Given the description of an element on the screen output the (x, y) to click on. 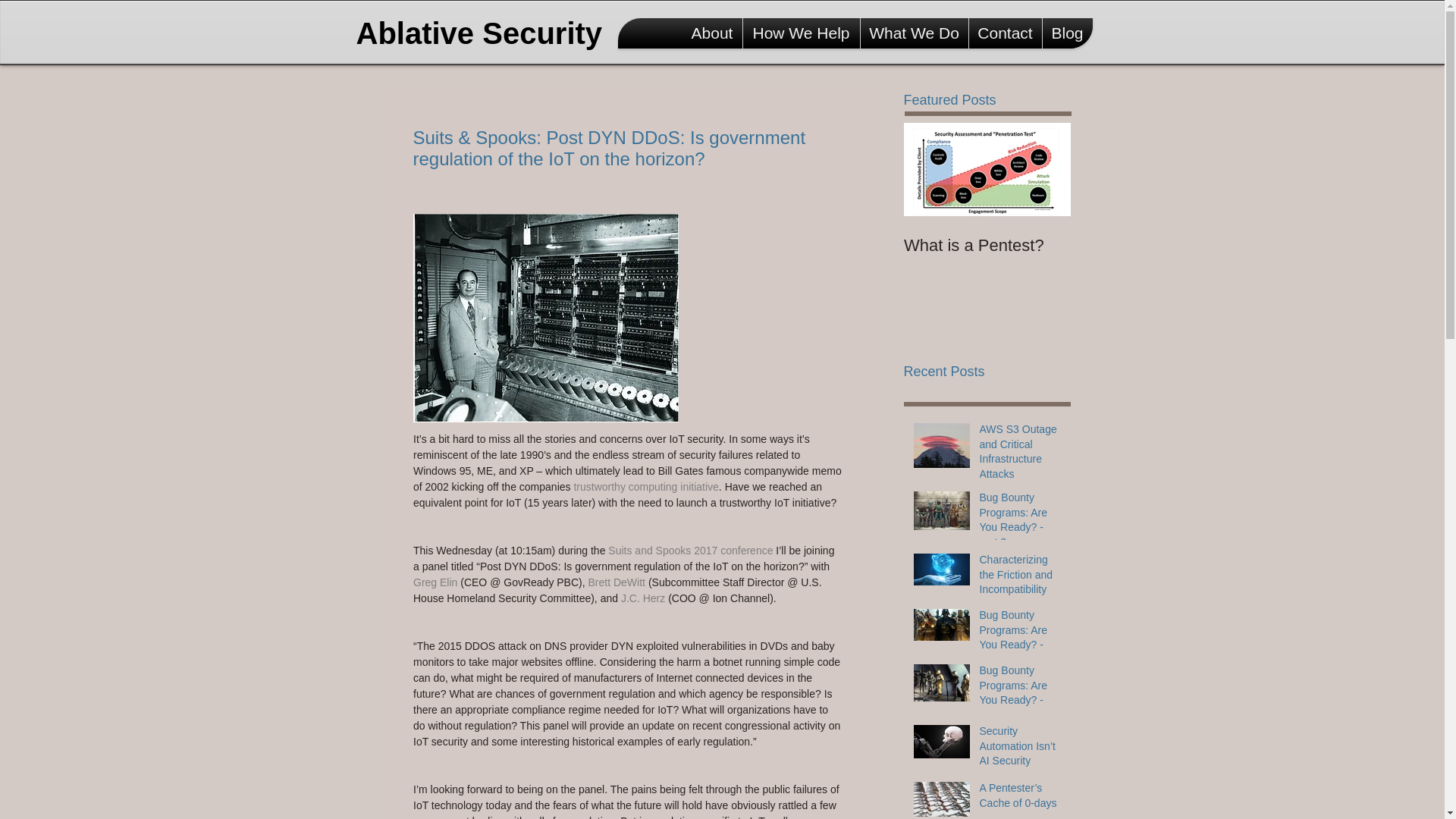
Brett DeWitt  (617, 582)
Ablative Security (485, 33)
trustworthy computing initiative (645, 486)
Suits and Spooks 2017 conference (690, 550)
Bug Bounty Programs: Are You Ready? - part 2 (1020, 640)
What We Do (914, 33)
AWS S3 Outage and Critical Infrastructure Attacks (1020, 454)
Bug Bounty Programs: Are You Ready? - part 3 (1020, 523)
Greg Elin (434, 582)
Bug Bounty Programs: Are You Ready? - Part 1 (1020, 695)
